Given the description of an element on the screen output the (x, y) to click on. 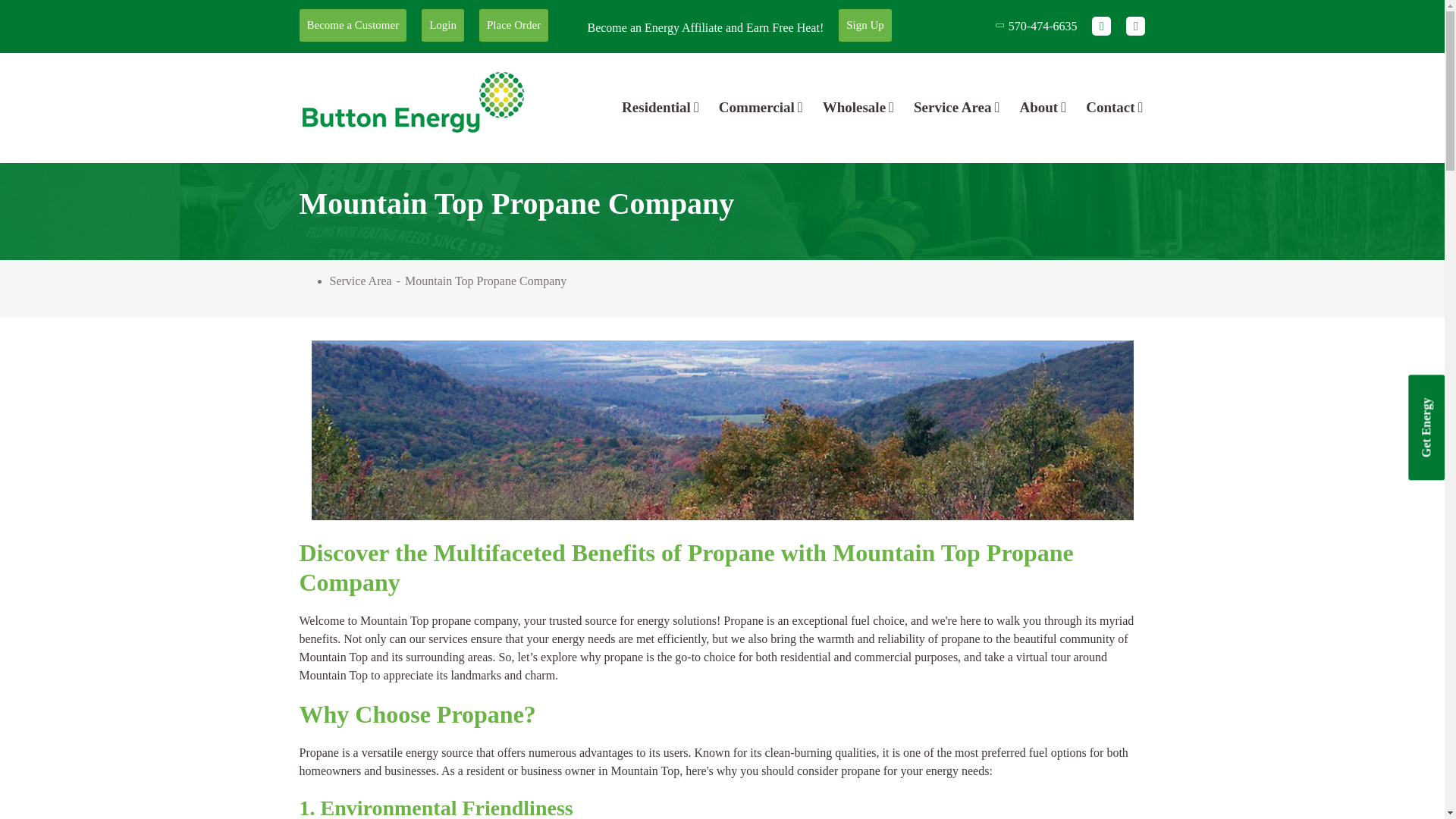
Sign Up (864, 25)
570-474-6635 (1040, 26)
Login (443, 25)
Residential (660, 107)
Service Area (956, 107)
Place Order (513, 25)
Wholesale (858, 107)
Become a Customer (352, 25)
Commercial (760, 107)
